Given the description of an element on the screen output the (x, y) to click on. 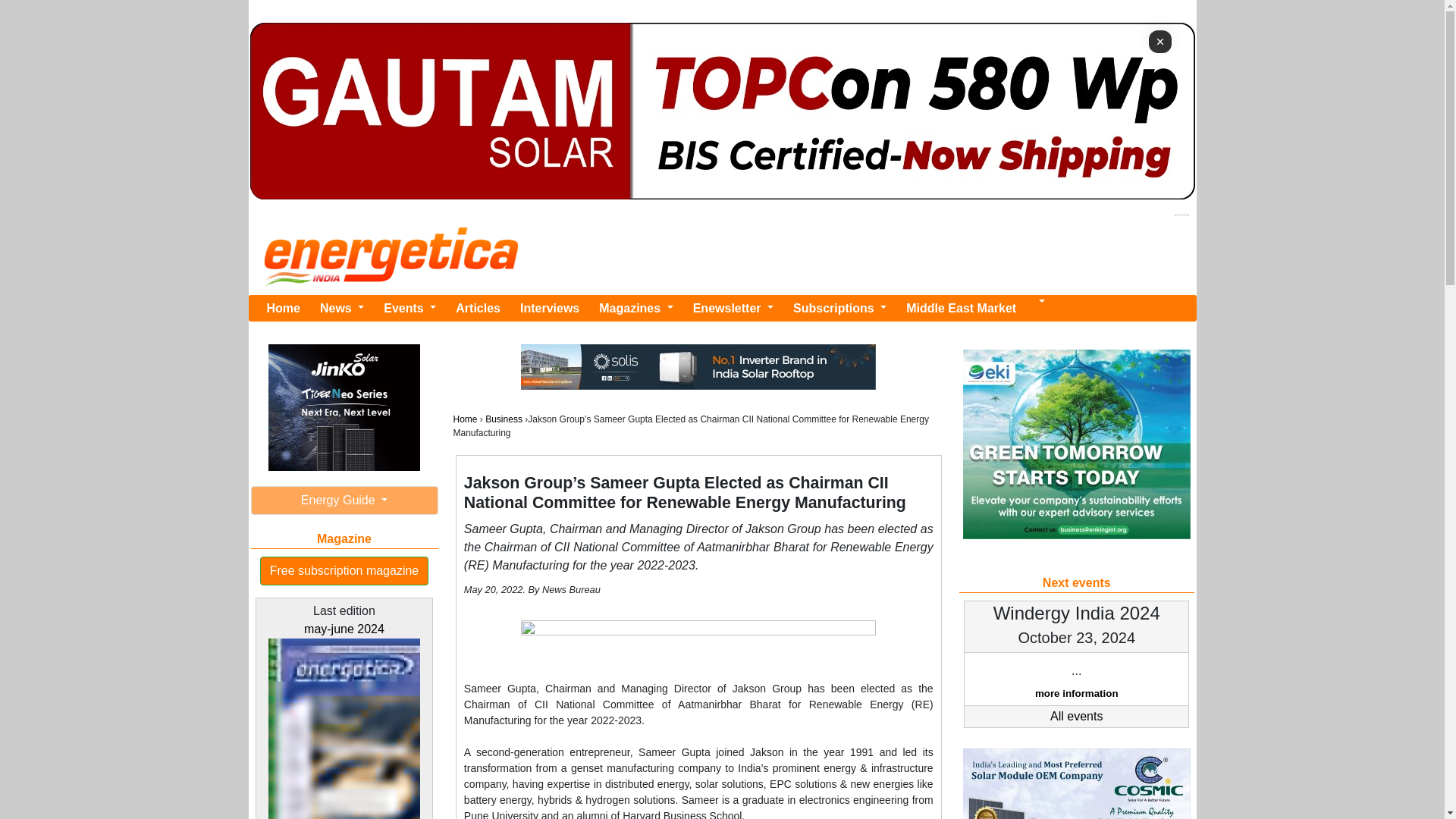
Home Energetica India (282, 307)
Home (282, 307)
News (341, 307)
